Given the description of an element on the screen output the (x, y) to click on. 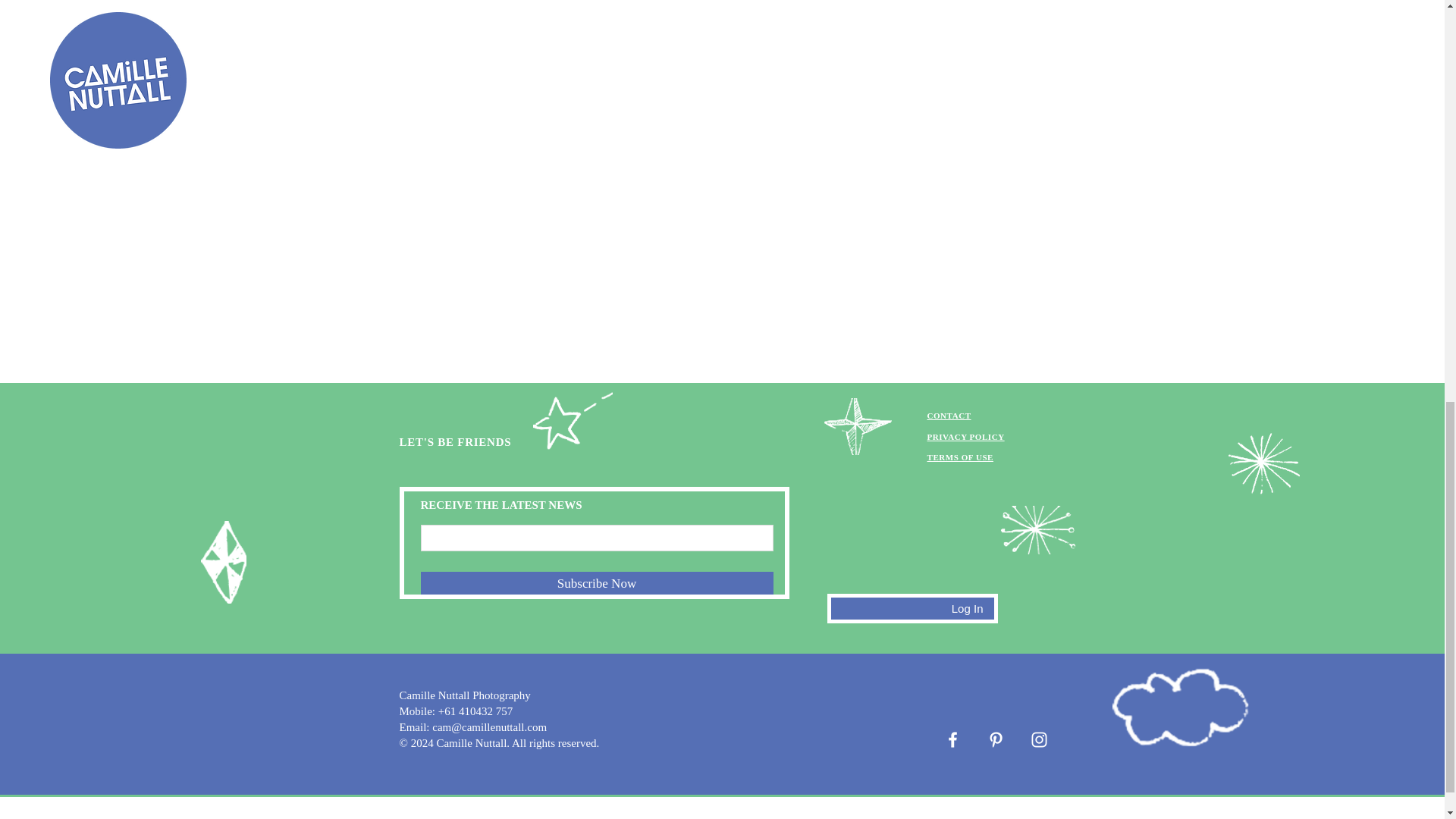
Subscribe Now (596, 582)
Log In (967, 608)
PRIVACY POLICY (965, 436)
TERMS OF USE (959, 456)
CONTACT (948, 415)
